Given the description of an element on the screen output the (x, y) to click on. 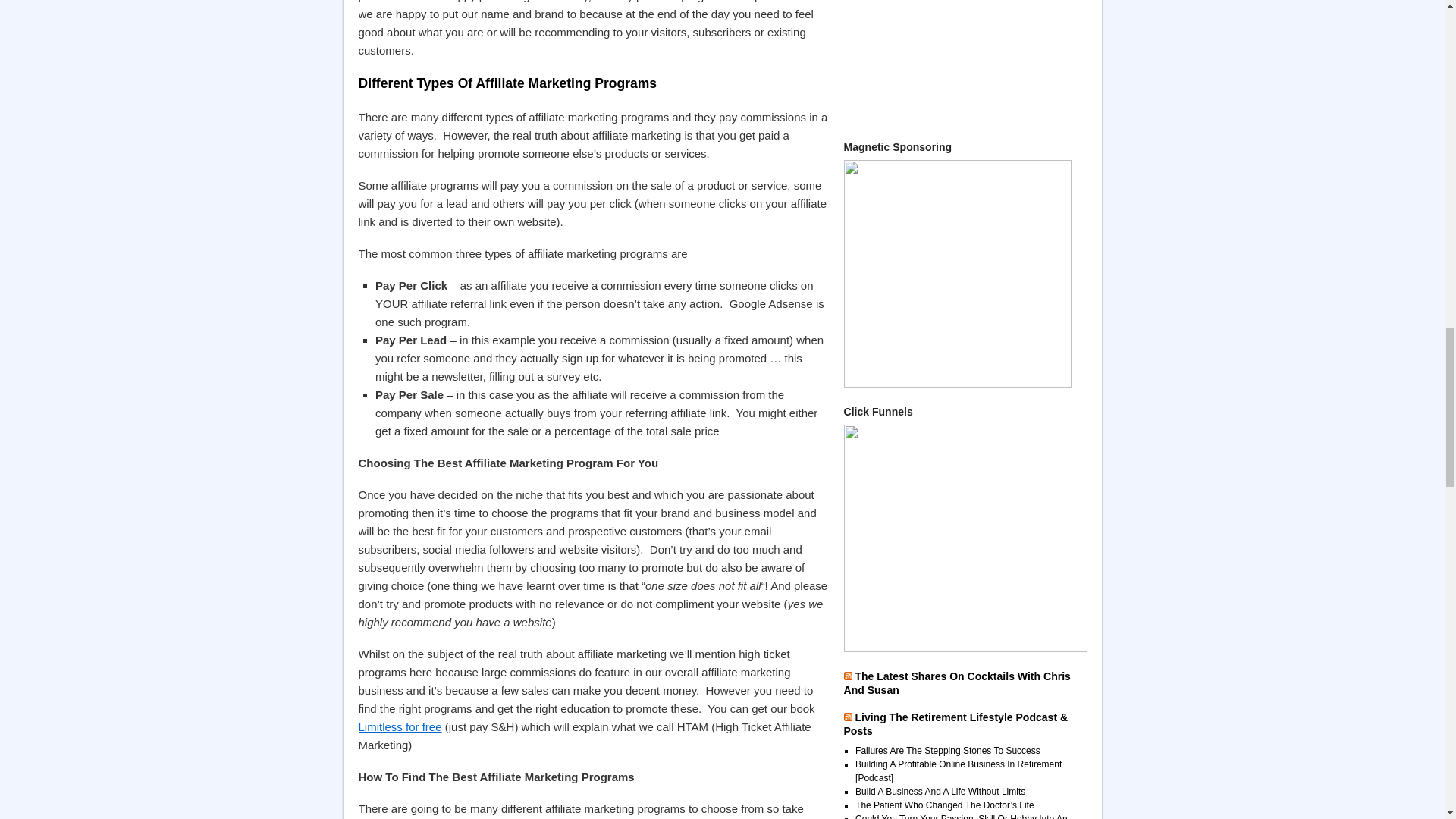
Limitless for free (399, 726)
